Given the description of an element on the screen output the (x, y) to click on. 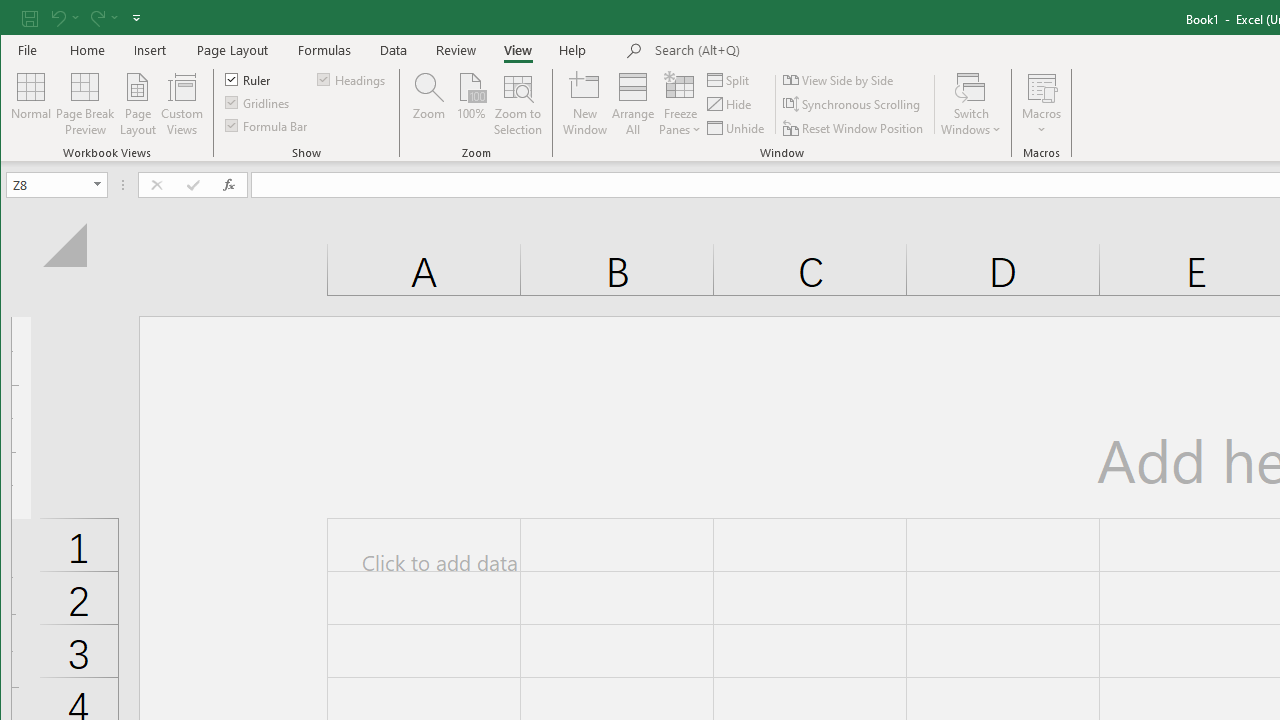
Zoom... (429, 104)
Hide (730, 103)
Split (730, 80)
Arrange All (633, 104)
Macros (1041, 104)
Reset Window Position (854, 127)
Headings (352, 78)
Freeze Panes (680, 104)
